Given the description of an element on the screen output the (x, y) to click on. 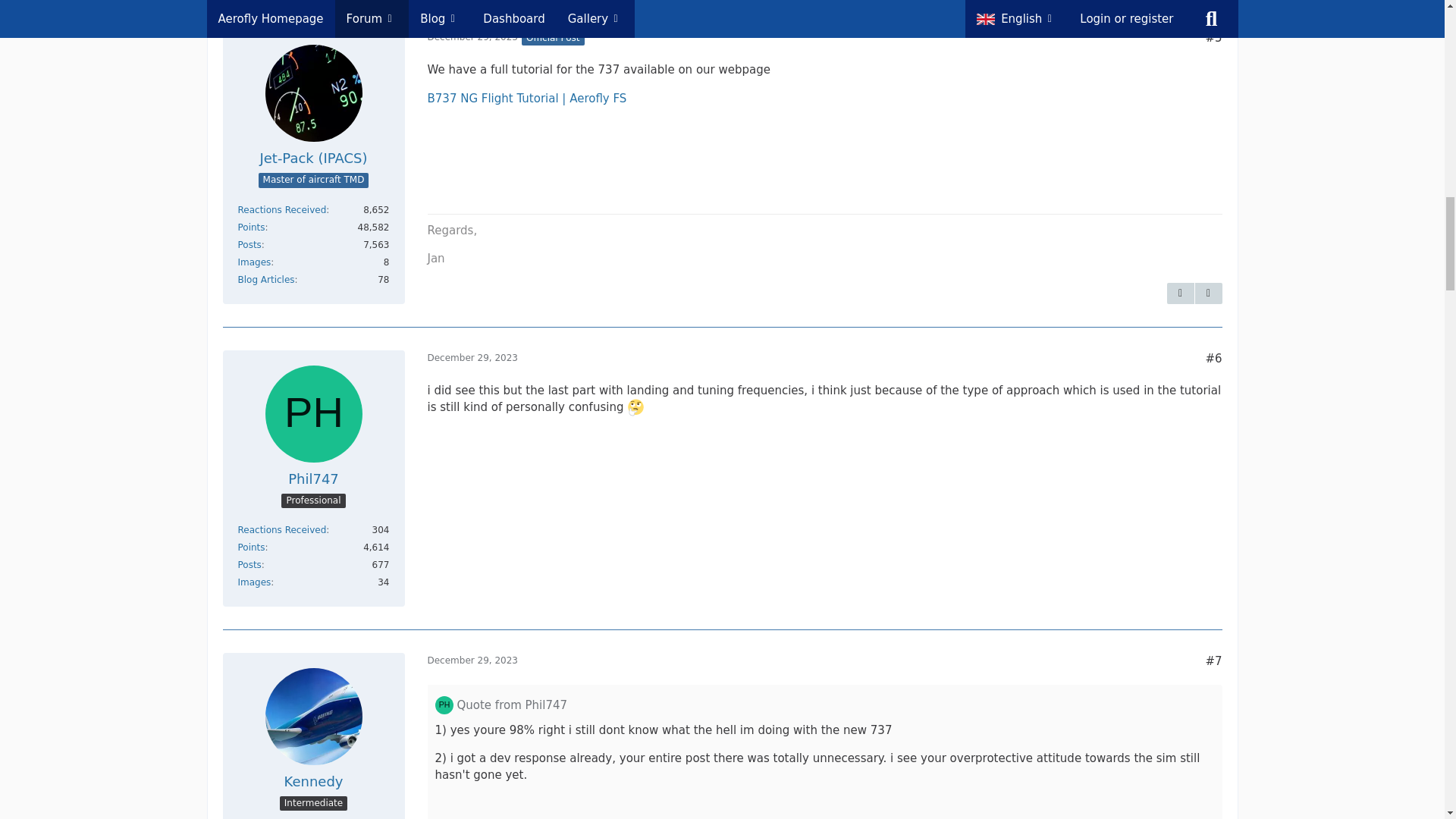
unsure (636, 407)
